Given the description of an element on the screen output the (x, y) to click on. 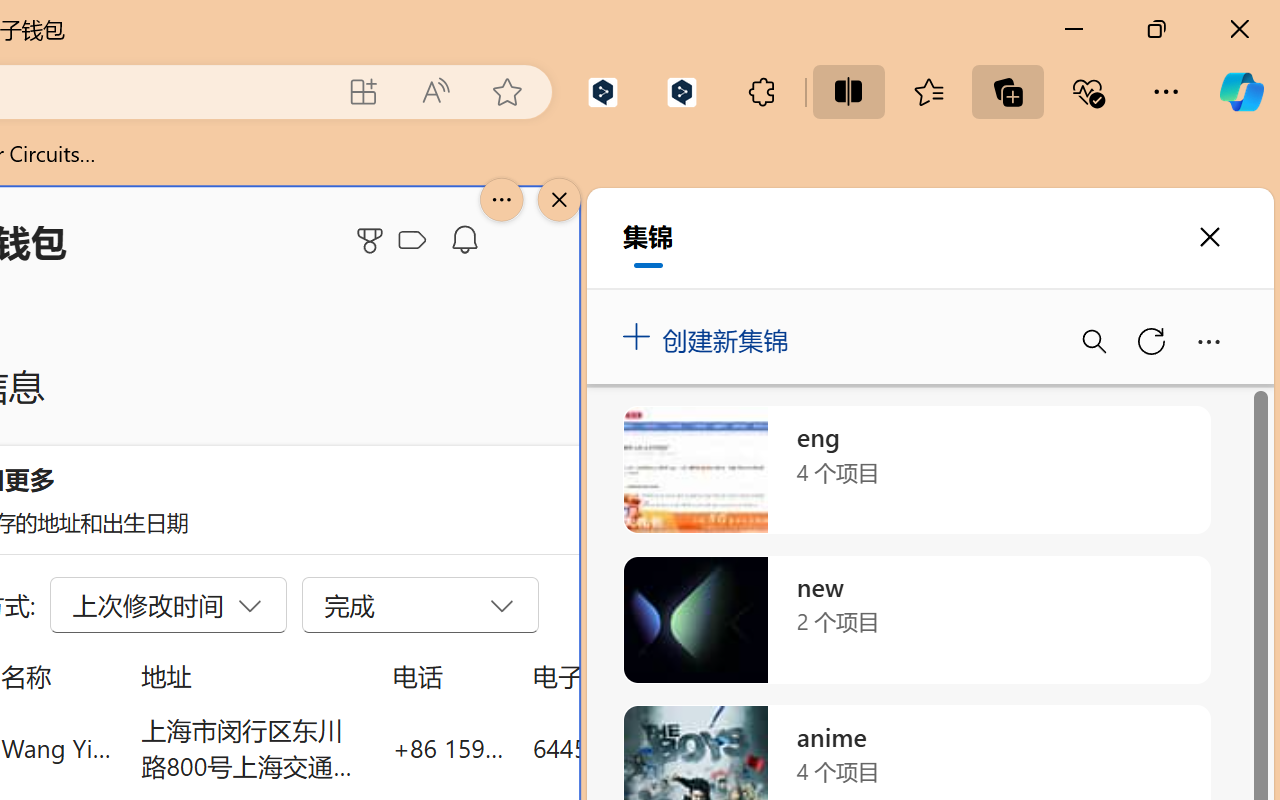
Microsoft Cashback (415, 241)
